Given the description of an element on the screen output the (x, y) to click on. 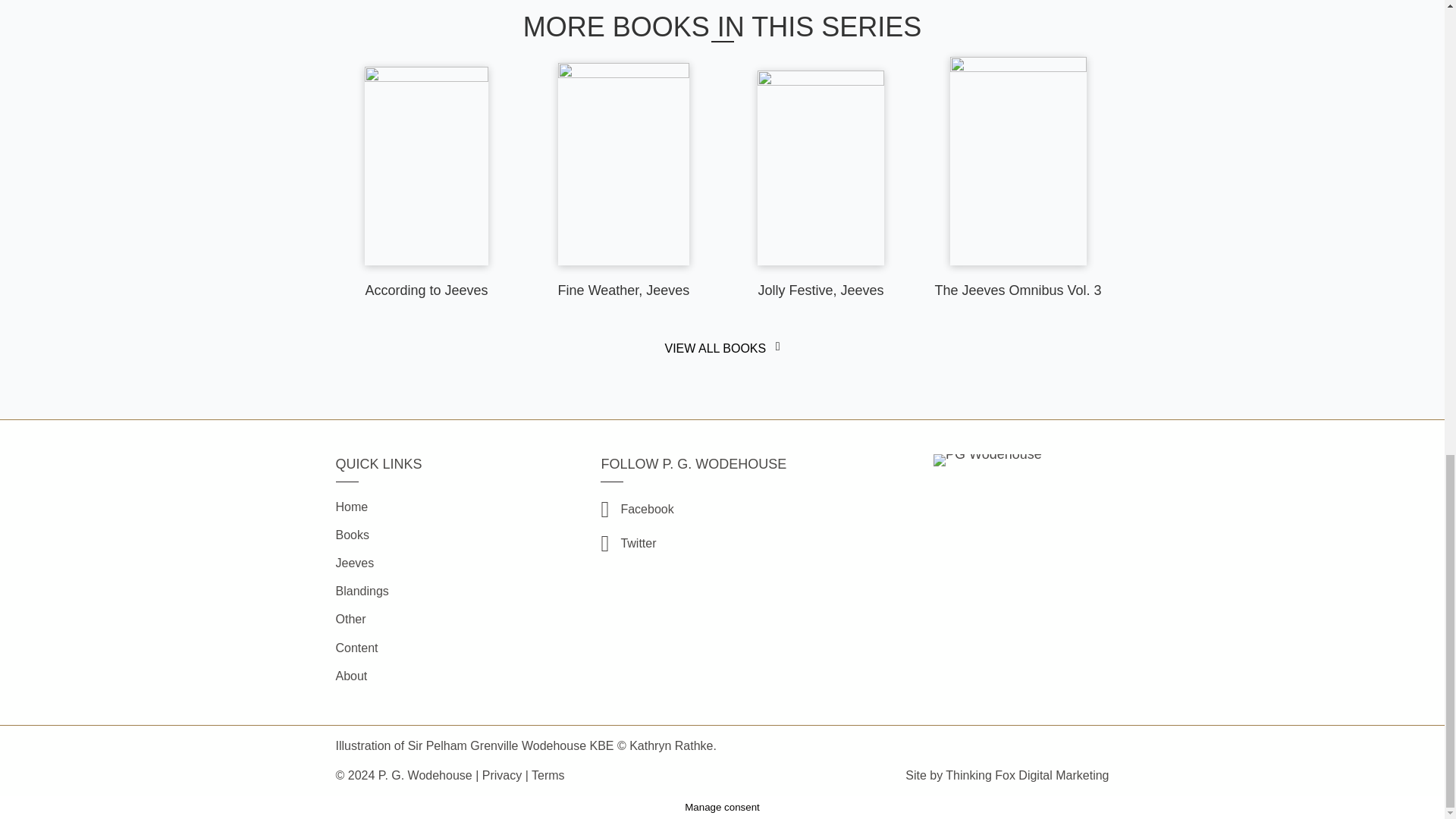
Blandings (452, 592)
white-gold (987, 460)
Home (452, 507)
Jeeves (452, 563)
VIEW ALL BOOKS (720, 348)
Books (452, 535)
